Given the description of an element on the screen output the (x, y) to click on. 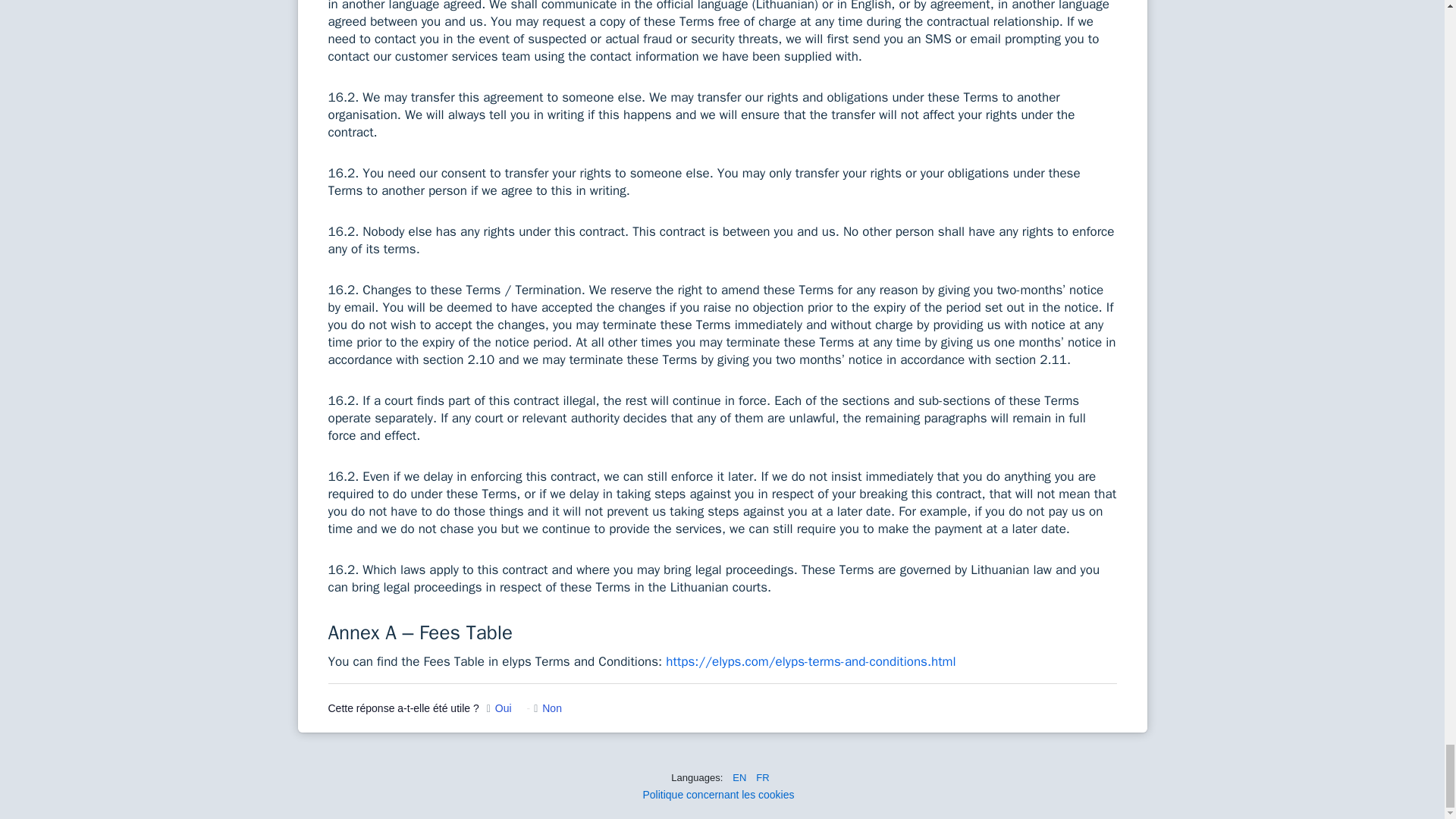
Politique concernant les cookies (717, 794)
FR (761, 777)
EN (738, 777)
